Given the description of an element on the screen output the (x, y) to click on. 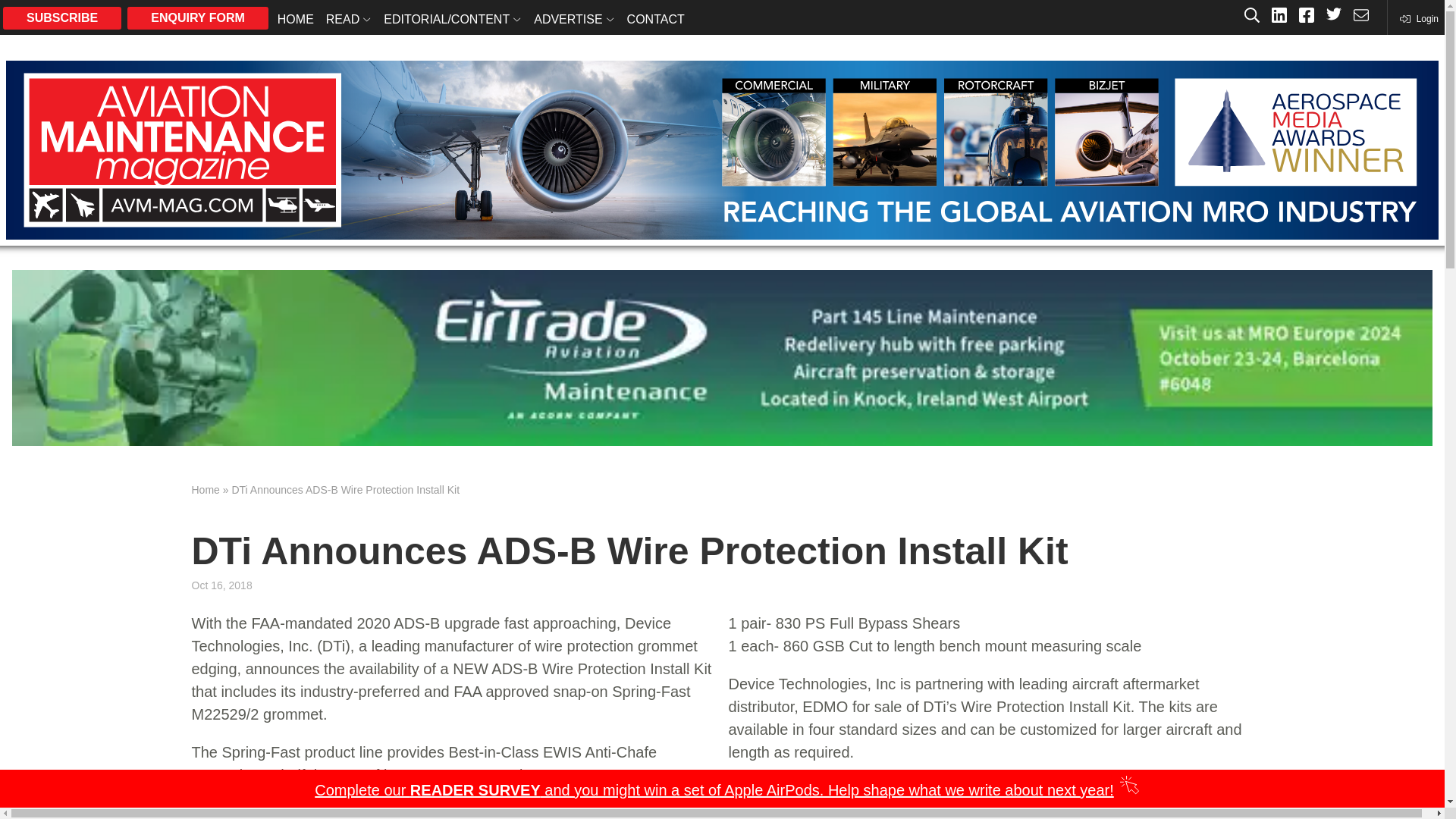
Login (1418, 18)
READ (348, 18)
HOME (295, 18)
Aviation Maintenance Magazine Facebook Page (1306, 17)
login-icon (1418, 18)
Aviation Maintenance Magazine Email Address (1361, 17)
Aviation Maintenance Magazine LinkedIn Company Page (1279, 17)
ENQUIRY FORM (197, 16)
SUBSCRIBE (61, 16)
Aviation Maintenance Magazine Twitter Page (1333, 17)
